Given the description of an element on the screen output the (x, y) to click on. 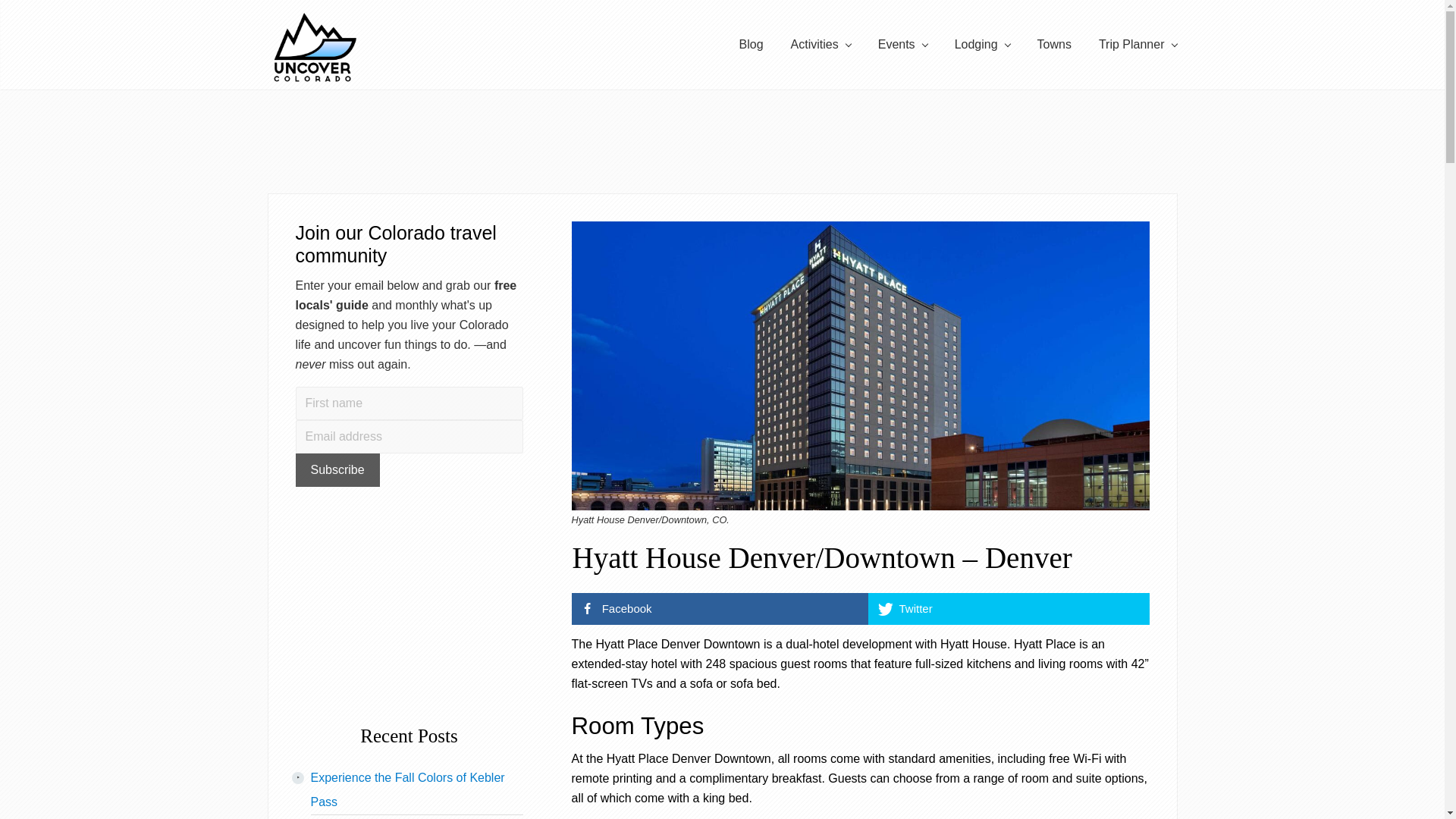
Subscribe (337, 469)
Blog (751, 44)
Colorado Trip Ideas (1137, 44)
Colorado Travel Blog (751, 44)
Activities (820, 44)
